Given the description of an element on the screen output the (x, y) to click on. 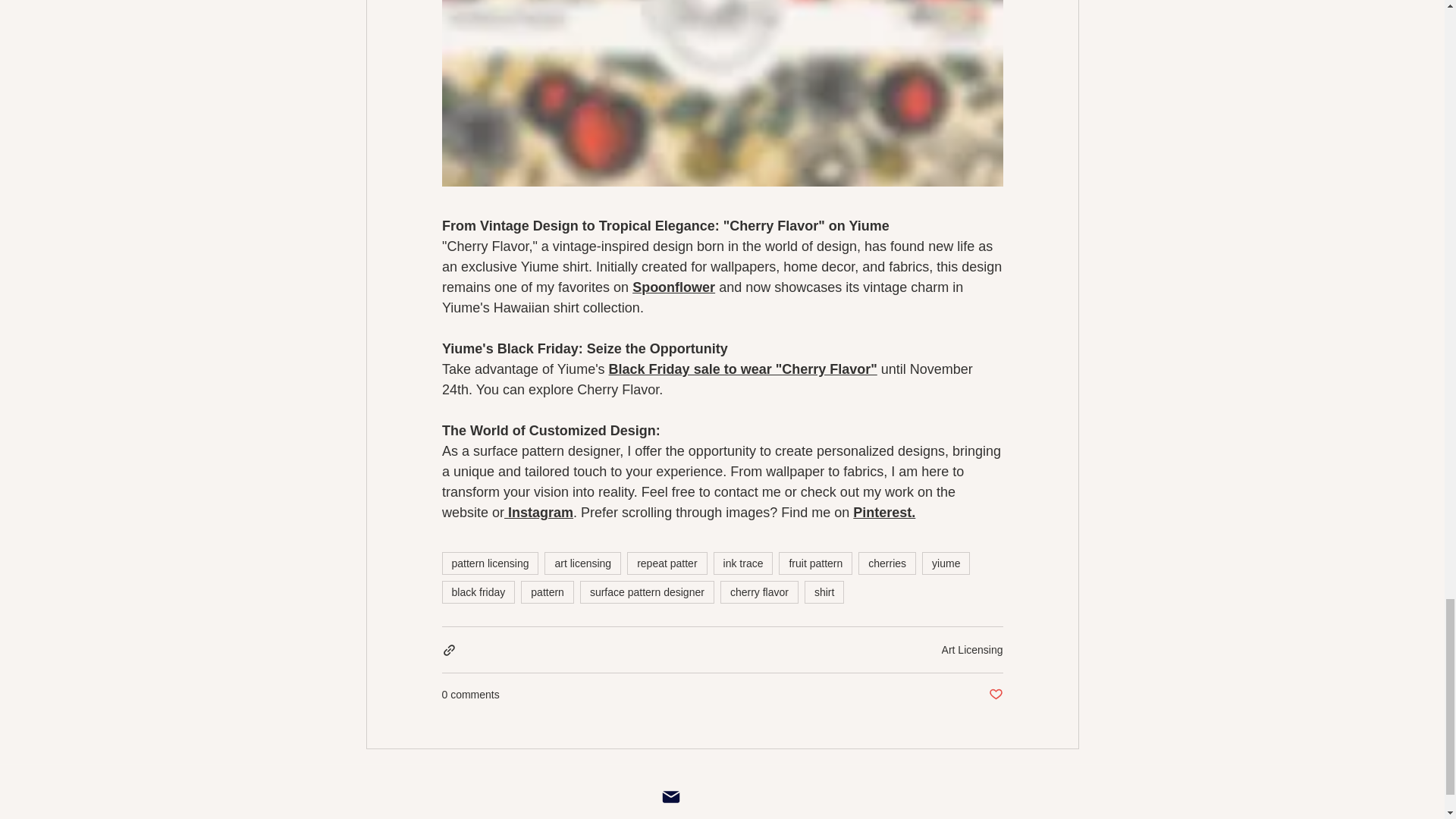
Black Friday sale to wear "Cherry Flavor" (742, 368)
cherry flavor (758, 591)
fruit pattern (814, 563)
yiume (945, 563)
shirt (824, 591)
cherries (887, 563)
black friday (478, 591)
Spoonflower (672, 287)
Pinterest. (884, 512)
art licensing (582, 563)
pattern licensing (489, 563)
repeat patter (666, 563)
surface pattern designer (646, 591)
ink trace (743, 563)
pattern (547, 591)
